Given the description of an element on the screen output the (x, y) to click on. 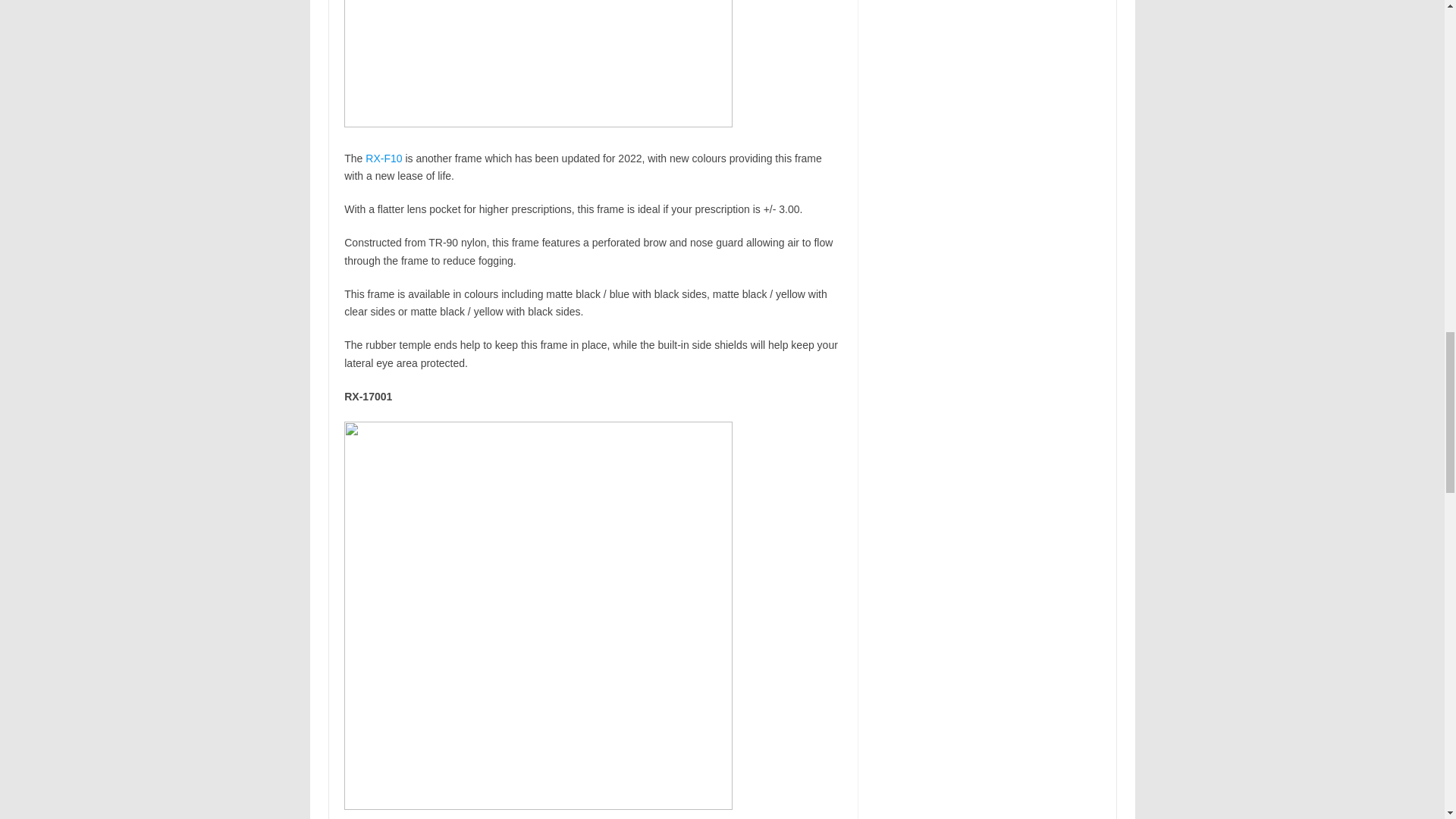
RX-F10 (383, 158)
